Given the description of an element on the screen output the (x, y) to click on. 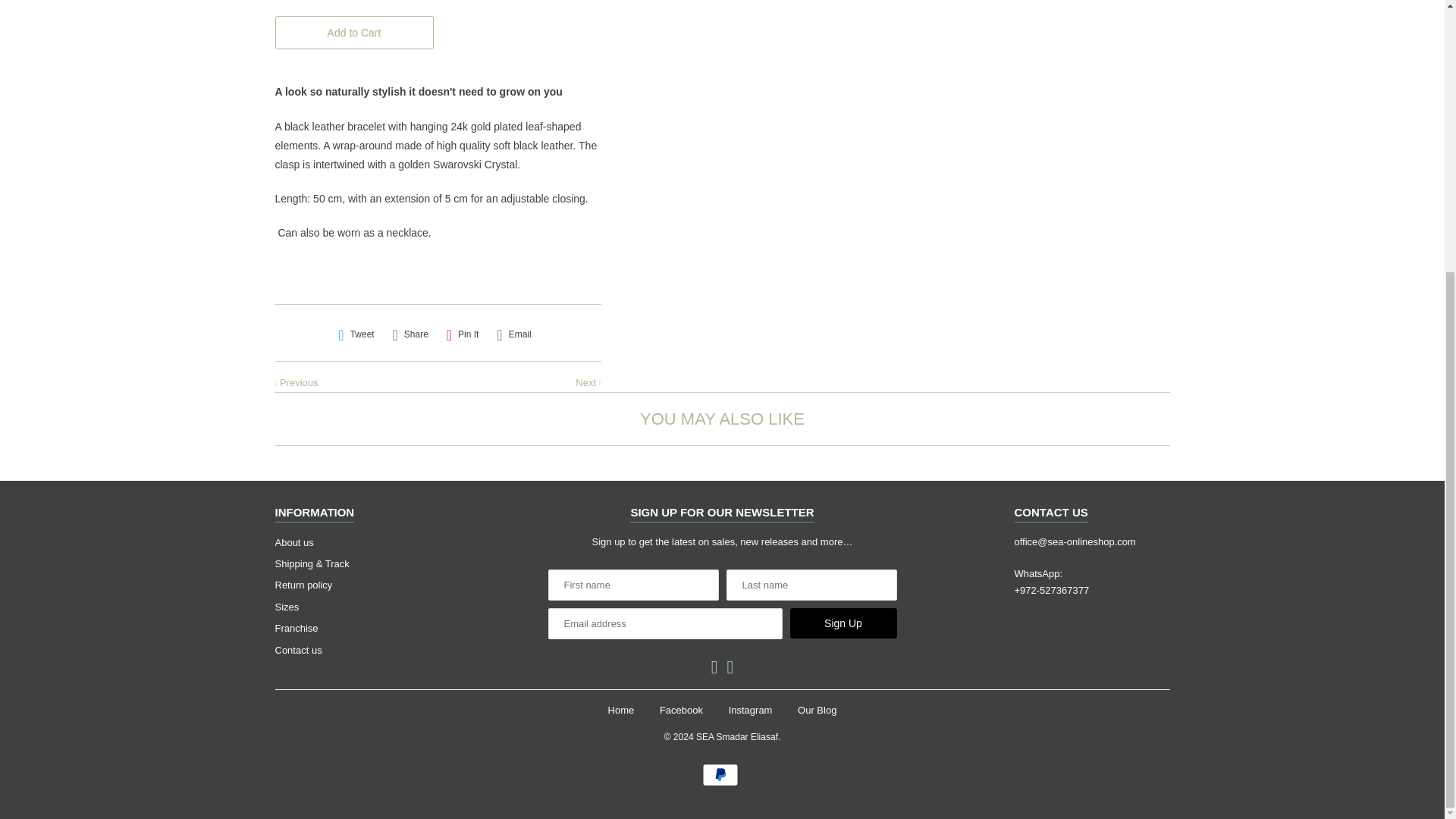
Share this on Facebook (410, 334)
Sign Up (843, 623)
Email this to a friend (513, 334)
PayPal (721, 774)
Share this on Twitter (355, 334)
Share this on Pinterest (462, 334)
